Given the description of an element on the screen output the (x, y) to click on. 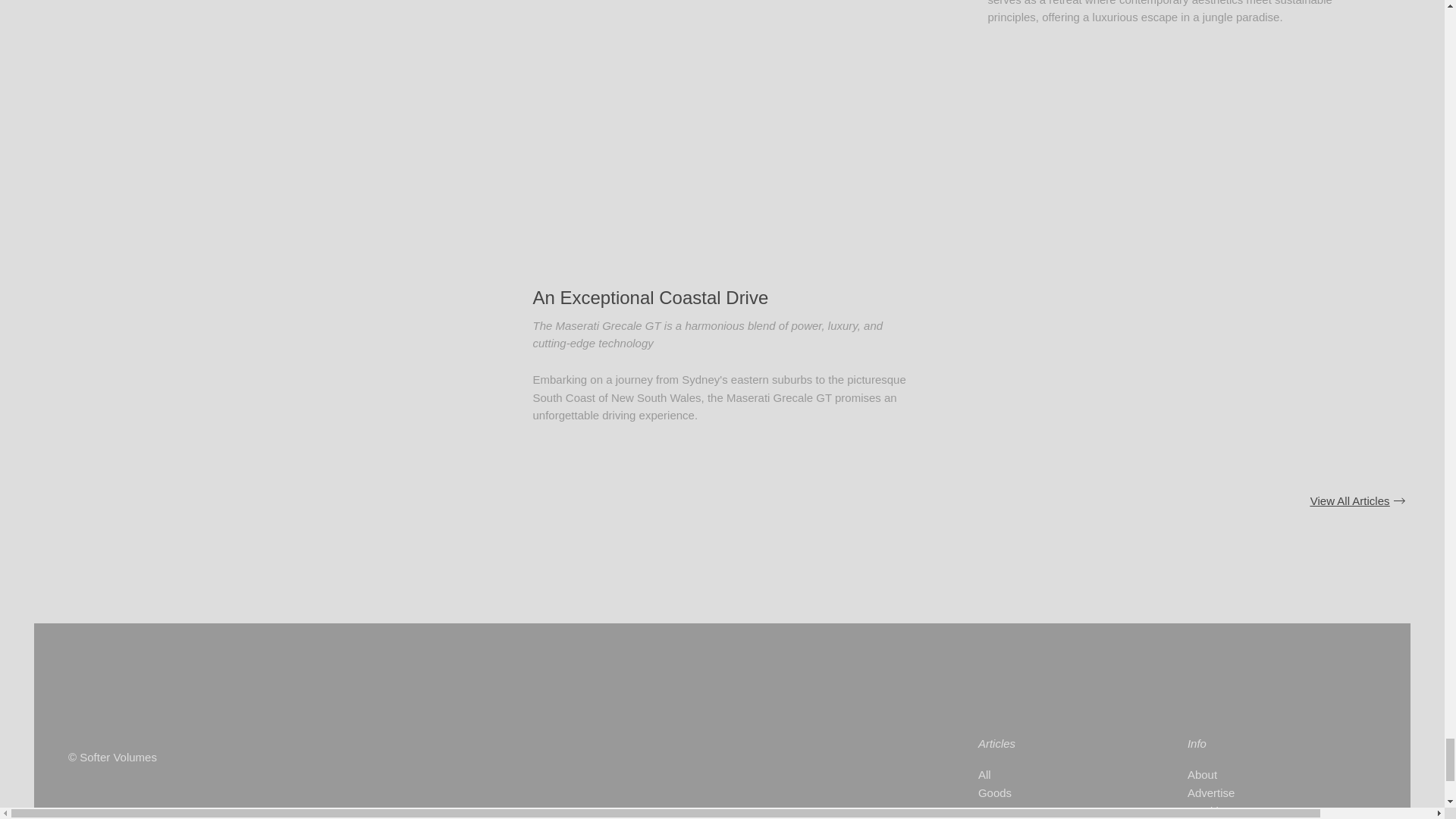
An Exceptional Coastal Drive (650, 297)
Goods (1056, 792)
Stockists (1262, 810)
All (1056, 774)
Advertise (1262, 792)
Spaces (1056, 810)
About (1262, 774)
View All Articles (1357, 501)
